Given the description of an element on the screen output the (x, y) to click on. 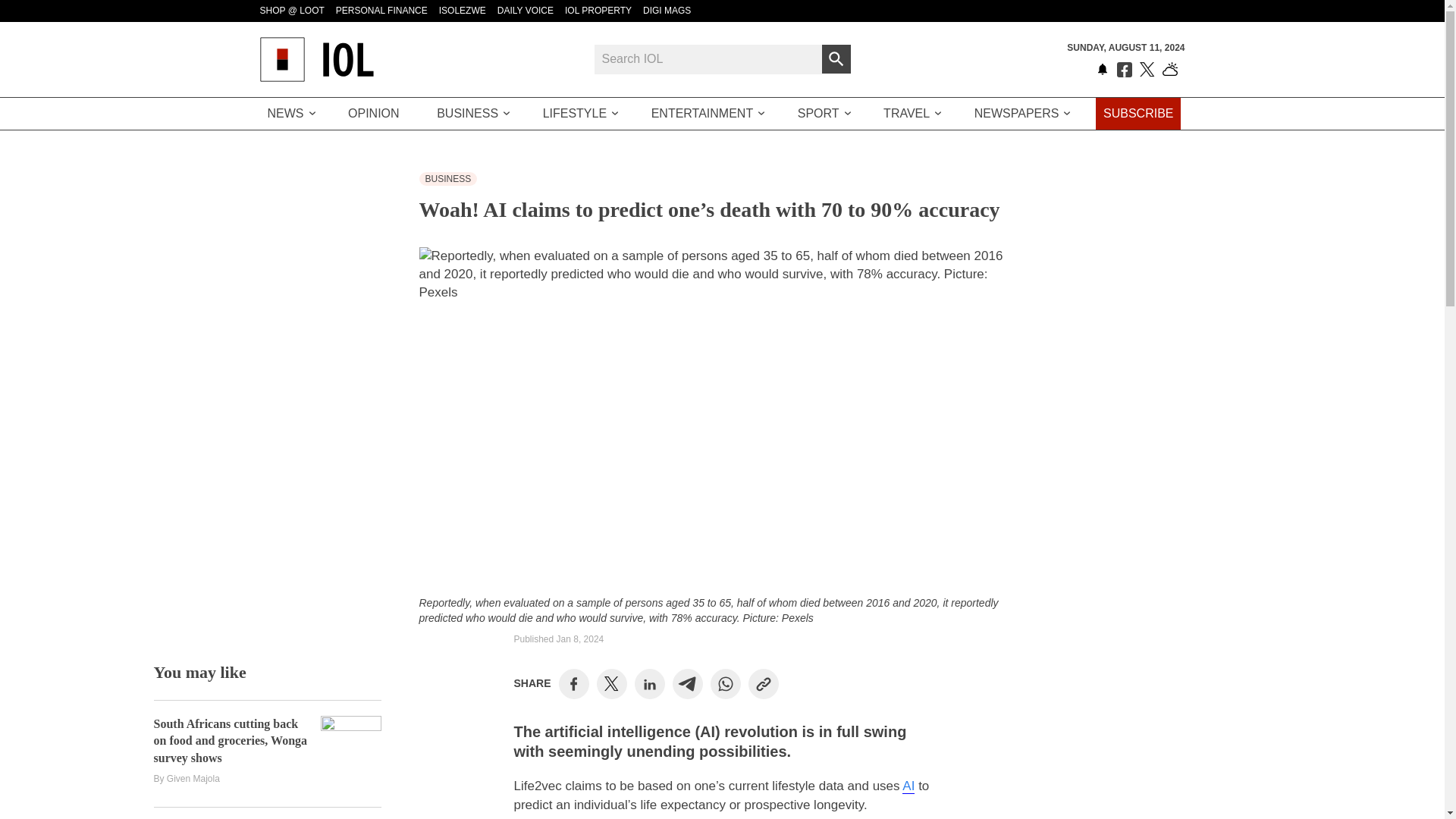
Copy to Clipboard (763, 683)
Share on Facebook (573, 683)
Share on LinkedIn (648, 683)
Like us on Facebook (1124, 69)
Share on Telegram (686, 683)
Follow us on Twitter (1147, 69)
Share on WhatsApp (725, 683)
Share on Twitter (611, 683)
